Given the description of an element on the screen output the (x, y) to click on. 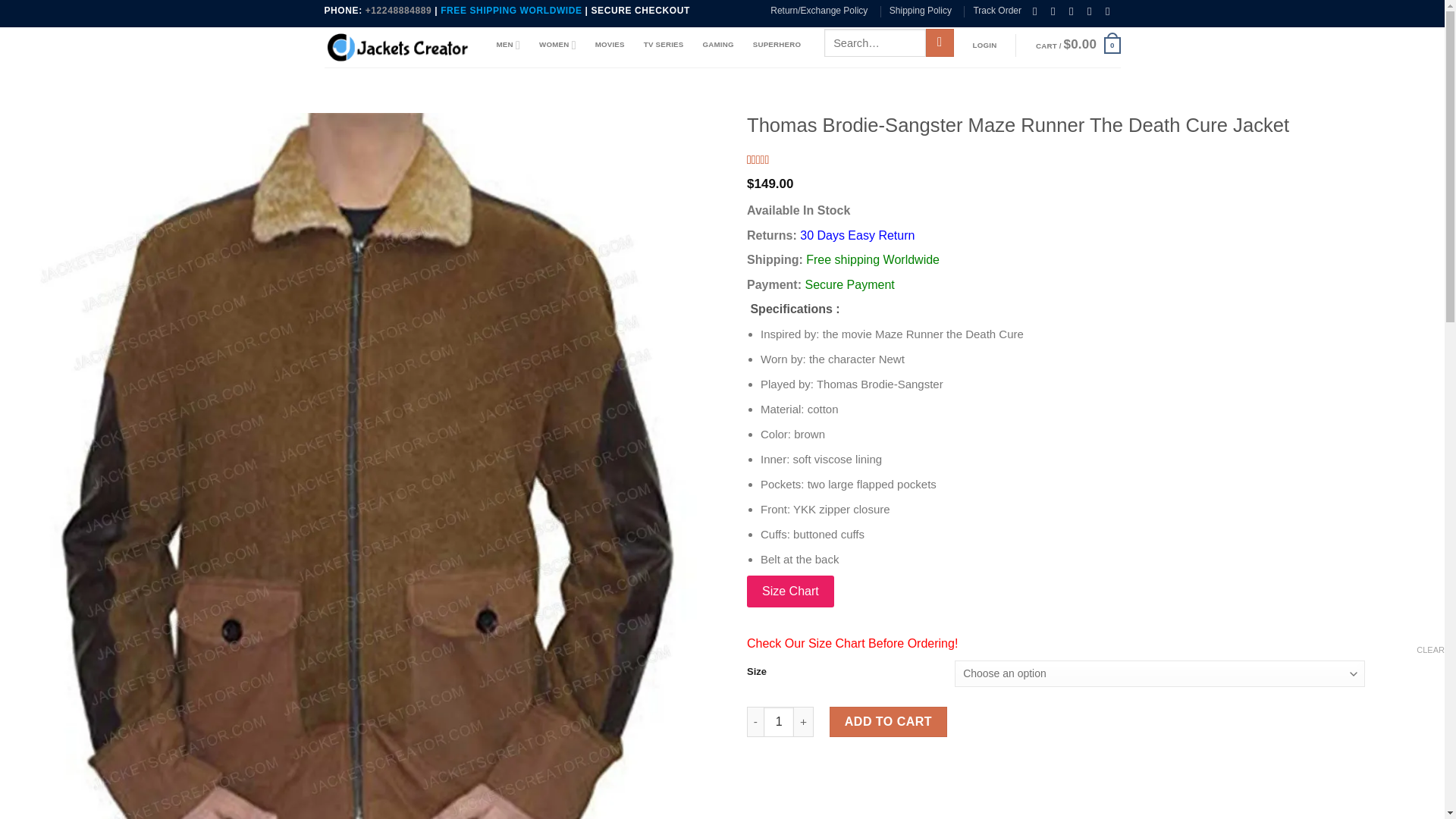
1 (777, 721)
Shipping Policy (920, 11)
WOMEN (557, 44)
GAMING (717, 44)
Track Order (997, 11)
Jackets Creator (399, 47)
Cart (1078, 45)
TV SERIES (663, 44)
